Given the description of an element on the screen output the (x, y) to click on. 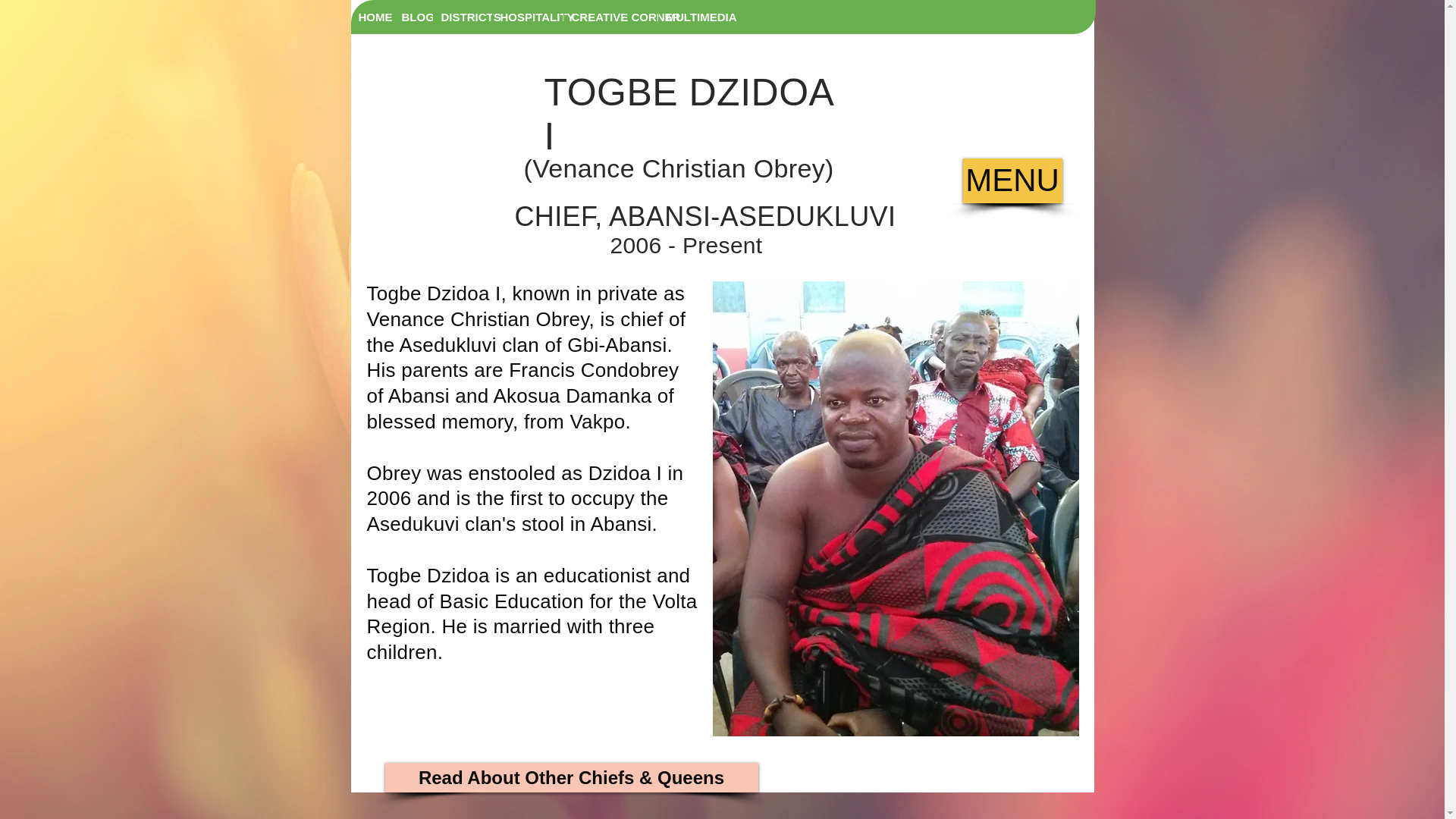
HOME (371, 17)
DISTRICTS (462, 17)
BLOG (412, 17)
